Given the description of an element on the screen output the (x, y) to click on. 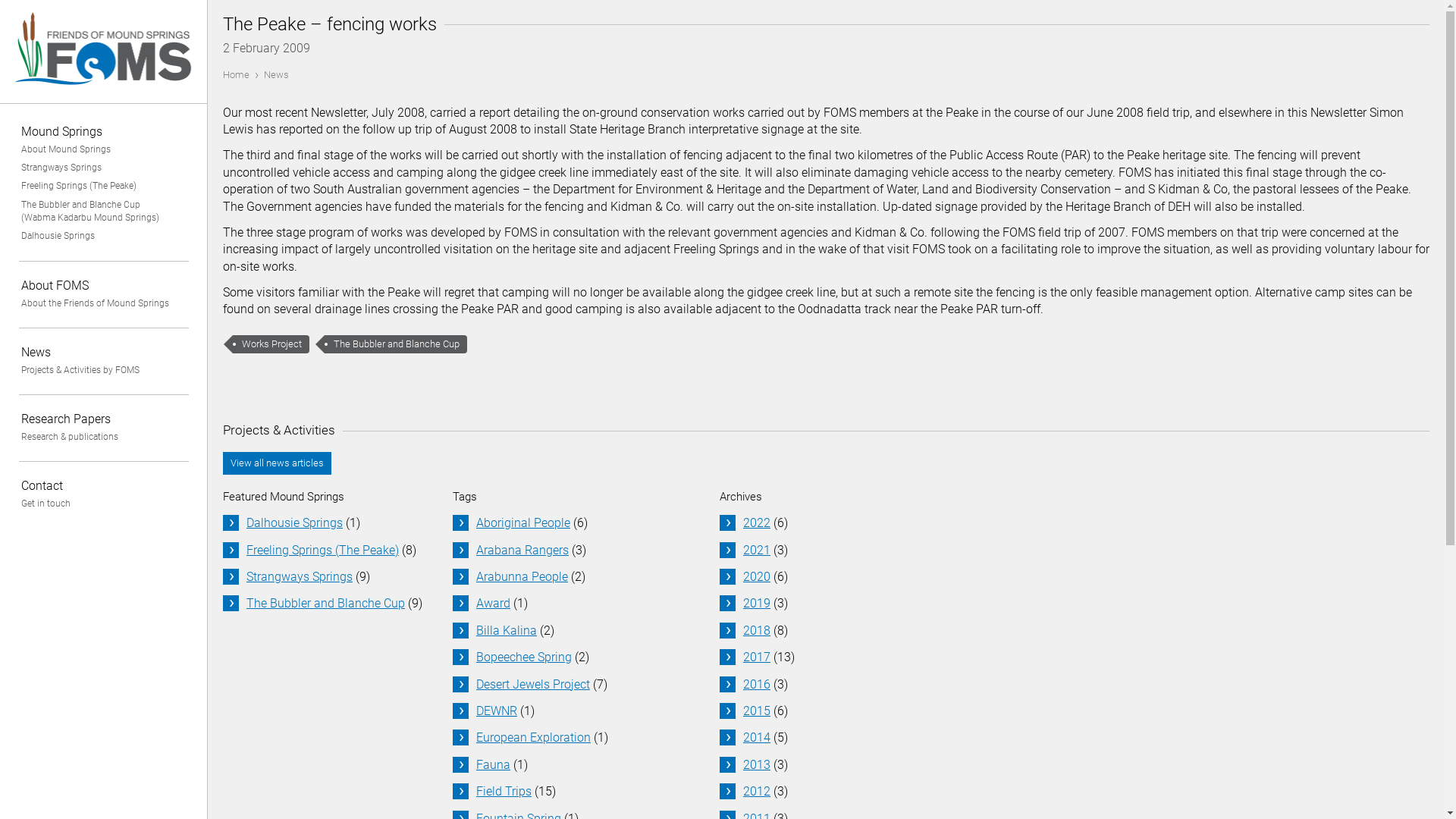
The Bubbler and Blanche Cup (Wabma Kadarbu Mound Springs) Element type: text (96, 211)
2 February 2009 Element type: text (266, 47)
Field Trips Element type: text (503, 791)
About FOMS Element type: text (103, 285)
Arabana Rangers Element type: text (522, 549)
2016 Element type: text (756, 684)
About Mound Springs Element type: text (103, 149)
Freeling Springs (The Peake) Element type: text (322, 549)
Home Element type: hover (103, 94)
About the Friends of Mound Springs Element type: text (103, 303)
Arabunna People Element type: text (521, 576)
Contact Element type: text (103, 485)
Research & publications Element type: text (103, 436)
View all news articles Element type: text (276, 462)
Dalhousie Springs Element type: text (294, 522)
2022 Element type: text (756, 522)
2013 Element type: text (756, 764)
2020 Element type: text (756, 576)
Billa Kalina Element type: text (506, 630)
2012 Element type: text (756, 791)
2015 Element type: text (756, 710)
DEWNR Element type: text (496, 710)
Home Element type: text (235, 74)
European Exploration Element type: text (533, 737)
Fauna Element type: text (493, 764)
Dalhousie Springs Element type: text (103, 235)
News Element type: text (275, 74)
The Bubbler and Blanche Cup Element type: text (325, 603)
Desert Jewels Project Element type: text (532, 684)
2018 Element type: text (756, 630)
Strangways Springs Element type: text (299, 576)
Strangways Springs Element type: text (103, 167)
Projects & Activities by FOMS Element type: text (103, 369)
The Bubbler and Blanche Cup Element type: text (395, 344)
Get in touch Element type: text (103, 503)
Aboriginal People Element type: text (523, 522)
News Element type: text (103, 351)
Mound Springs Element type: text (103, 131)
Bopeechee Spring Element type: text (523, 656)
Works Project Element type: text (270, 344)
2019 Element type: text (756, 603)
Research Papers Element type: text (103, 418)
Award Element type: text (493, 603)
2021 Element type: text (756, 549)
Freeling Springs (The Peake) Element type: text (103, 185)
2014 Element type: text (756, 737)
2017 Element type: text (756, 656)
